Given the description of an element on the screen output the (x, y) to click on. 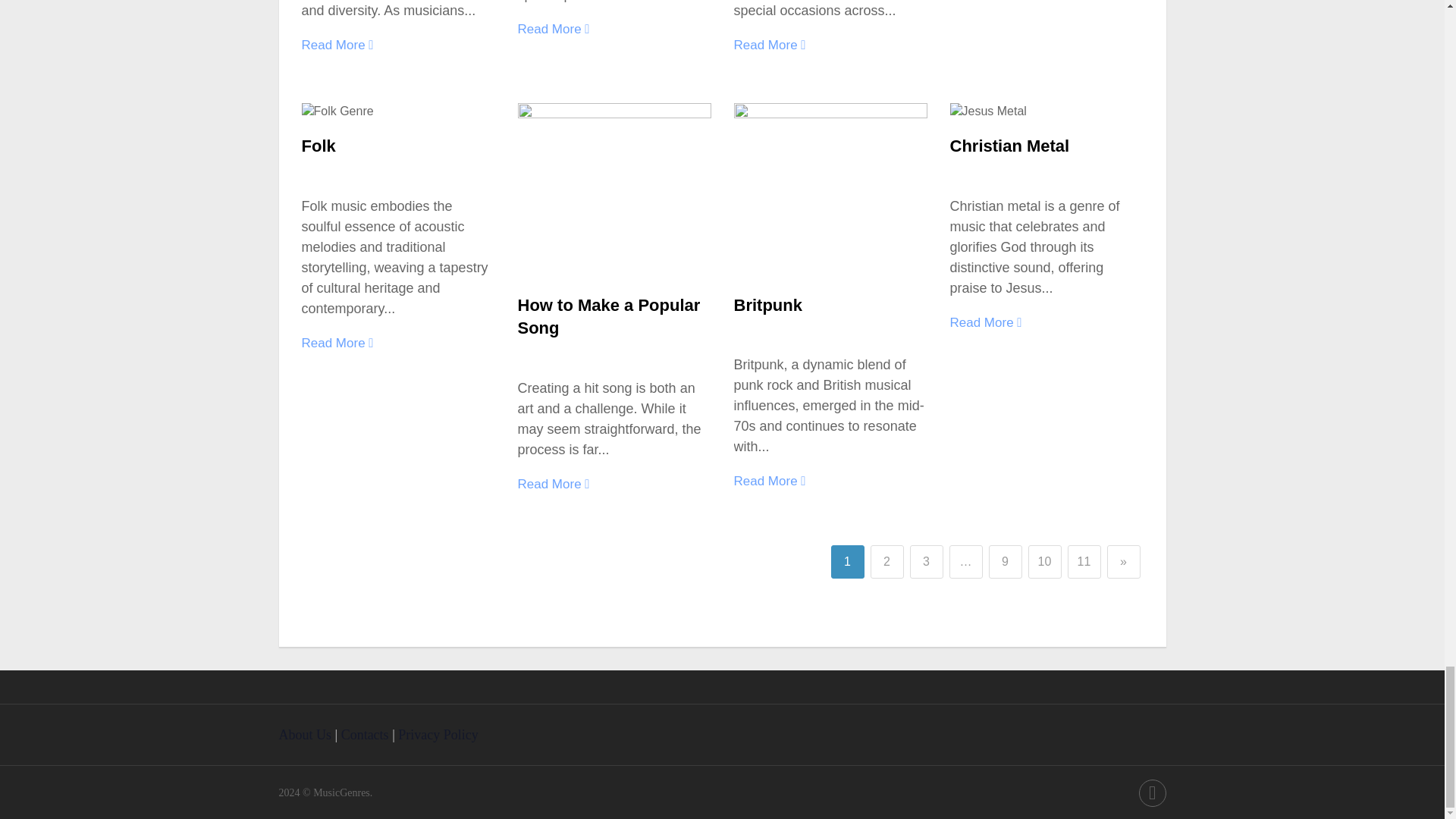
 Musical Genres From The Whole World (341, 792)
